Given the description of an element on the screen output the (x, y) to click on. 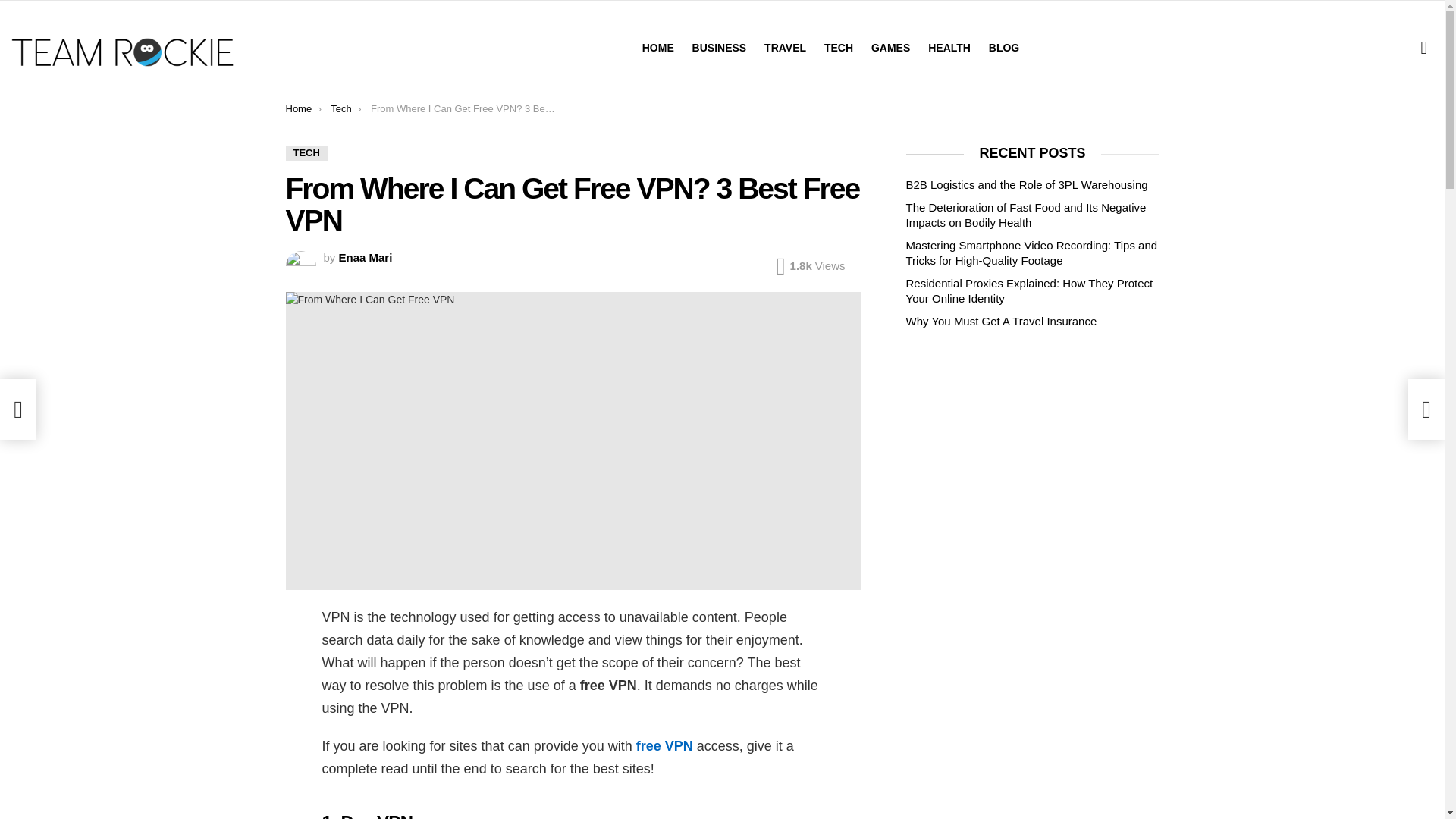
GAMES (890, 47)
HOME (657, 47)
BLOG (1003, 47)
Posts by Enaa Mari (366, 256)
TRAVEL (785, 47)
TECH (838, 47)
Enaa Mari (366, 256)
HEALTH (949, 47)
Tech (340, 108)
BUSINESS (719, 47)
Home (298, 108)
TECH (305, 152)
free VPN (664, 745)
